Given the description of an element on the screen output the (x, y) to click on. 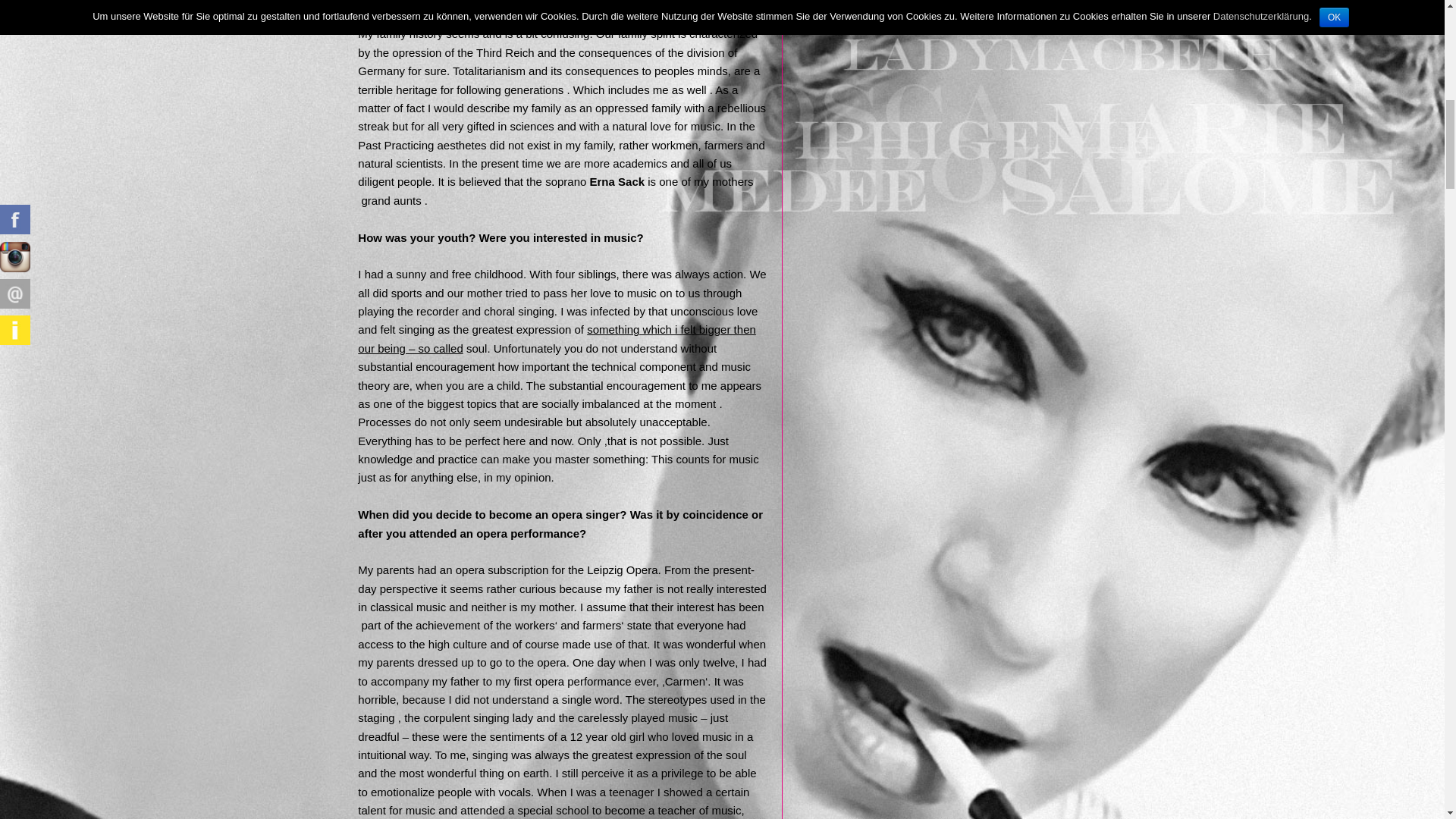
recorder (437, 310)
soprano (565, 181)
consequences (615, 51)
singing (536, 310)
natural (375, 163)
choral (499, 310)
Totalitarianism (488, 70)
the (405, 310)
play (368, 310)
rebellious (741, 107)
siblings (596, 273)
expression (544, 328)
streak (373, 125)
aesthete (459, 144)
unconscious (701, 310)
